Given the description of an element on the screen output the (x, y) to click on. 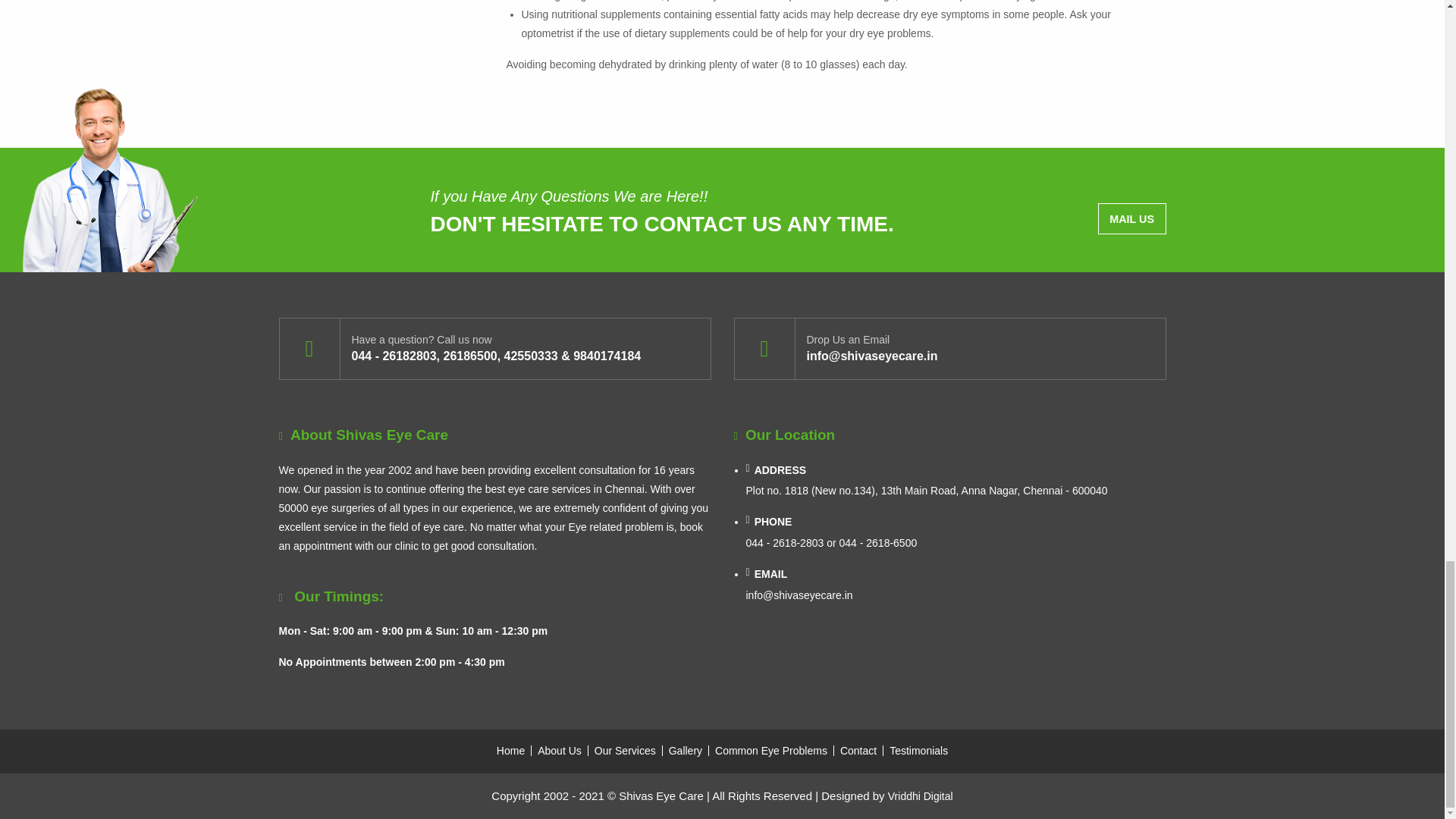
MAIL US (1131, 218)
Vriddhi Digital (920, 796)
Home (513, 750)
Testimonials (915, 750)
Common Eye Problems (771, 750)
Contact (858, 750)
Our Services (625, 750)
Gallery (685, 750)
About Us (559, 750)
